Given the description of an element on the screen output the (x, y) to click on. 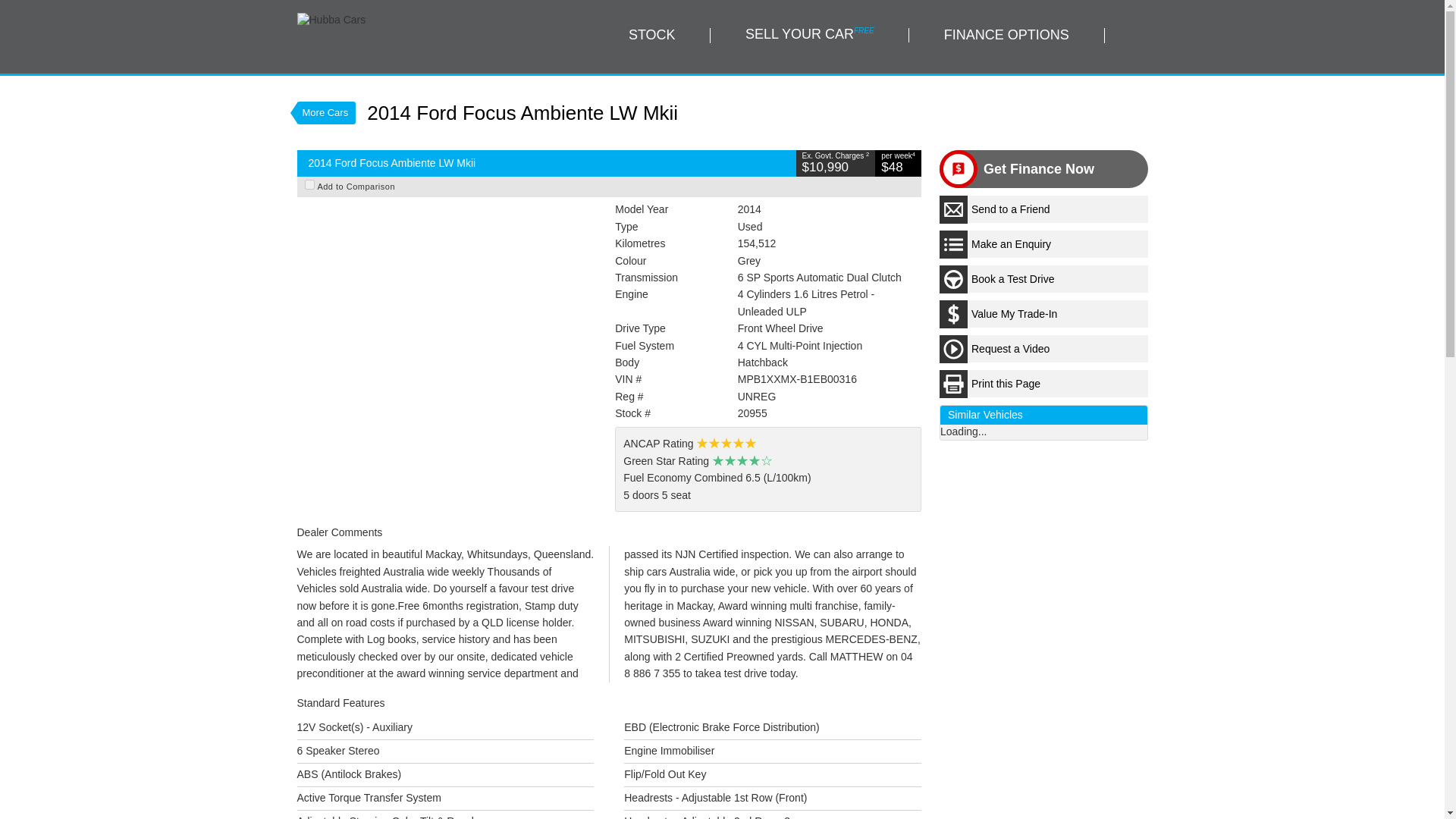
More Cars (326, 112)
Stock (652, 35)
FINANCE OPTIONS (1005, 35)
Print this Page (1043, 383)
STOCK (652, 35)
Sell Your Car (809, 34)
SELL YOUR CAR (809, 34)
Finance Options (1005, 35)
on (309, 184)
Get Finance Now (1039, 168)
